Given the description of an element on the screen output the (x, y) to click on. 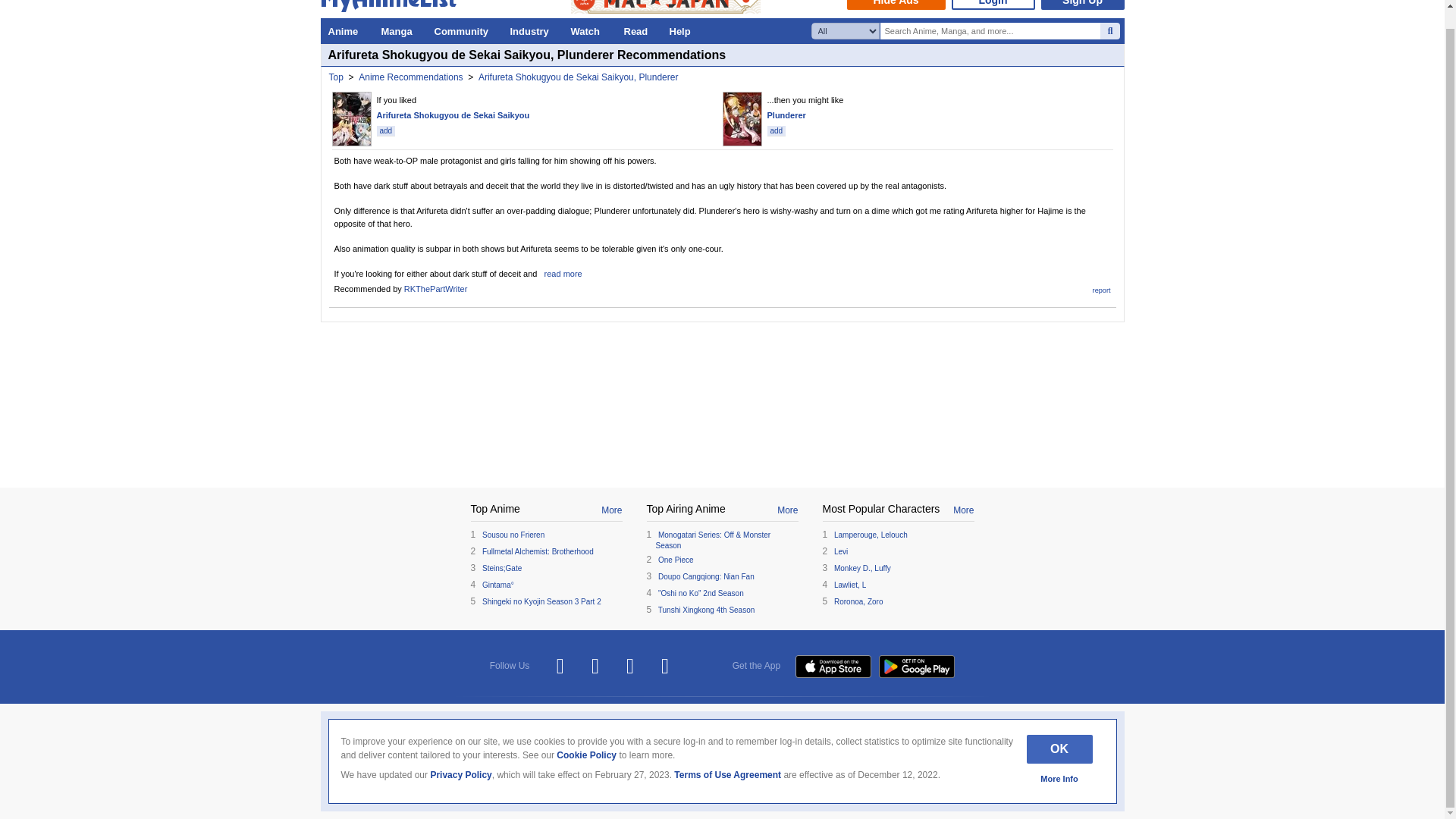
Sign Up (1082, 4)
Read (638, 31)
MAL x JAPAN (665, 6)
Plunderer (786, 114)
Industry (532, 31)
Login (991, 4)
Join Discord Chat (665, 666)
Community (464, 31)
Anime (346, 31)
Manga (399, 31)
Arifureta Shokugyou de Sekai Saikyou (452, 114)
Hide Ads (894, 4)
Watch (588, 31)
MyAnimeList.net (392, 8)
